Given the description of an element on the screen output the (x, y) to click on. 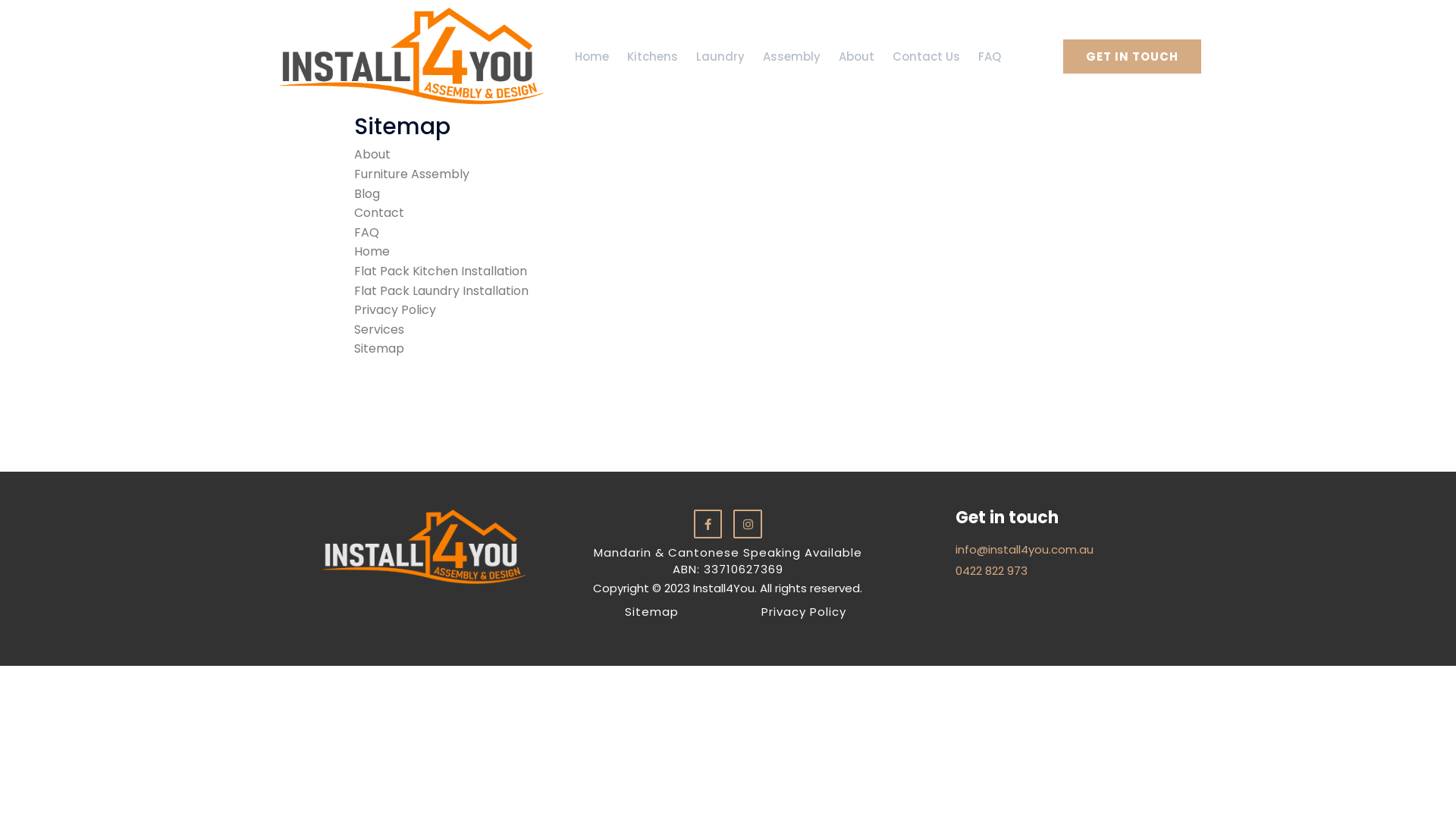
Contact Us Element type: text (926, 56)
Laundry Element type: text (720, 56)
info@install4you.com.au Element type: text (1069, 549)
Home Element type: text (371, 251)
FAQ Element type: text (989, 56)
Sitemap Element type: text (651, 611)
Services Element type: text (379, 329)
About Element type: text (856, 56)
Privacy Policy Element type: text (803, 611)
Contact Element type: text (379, 212)
Home Element type: text (591, 56)
Assembly Element type: text (791, 56)
0422 822 973 Element type: text (1069, 571)
FAQ Element type: text (366, 232)
About Element type: text (372, 154)
Flat Pack Laundry Installation Element type: text (441, 290)
Blog Element type: text (366, 193)
Flat Pack Kitchen Installation Element type: text (440, 270)
Furniture Assembly Element type: text (411, 173)
Sitemap Element type: text (379, 348)
Privacy Policy Element type: text (395, 309)
Kitchens Element type: text (652, 56)
GET IN TOUCH Element type: text (1132, 56)
